Given the description of an element on the screen output the (x, y) to click on. 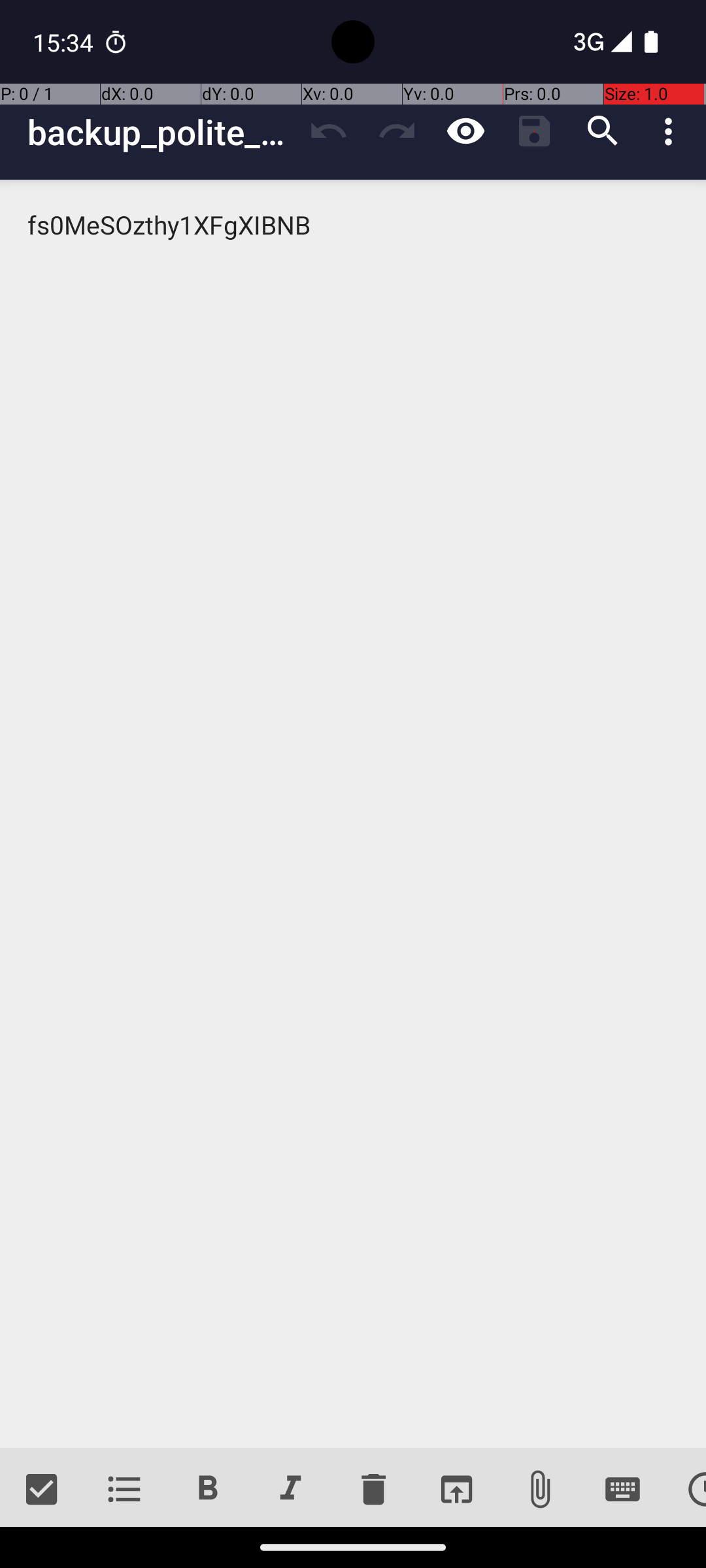
backup_polite_umbrella Element type: android.widget.TextView (160, 131)
fs0MeSOzthy1XFgXIBNB
 Element type: android.widget.EditText (353, 813)
